Given the description of an element on the screen output the (x, y) to click on. 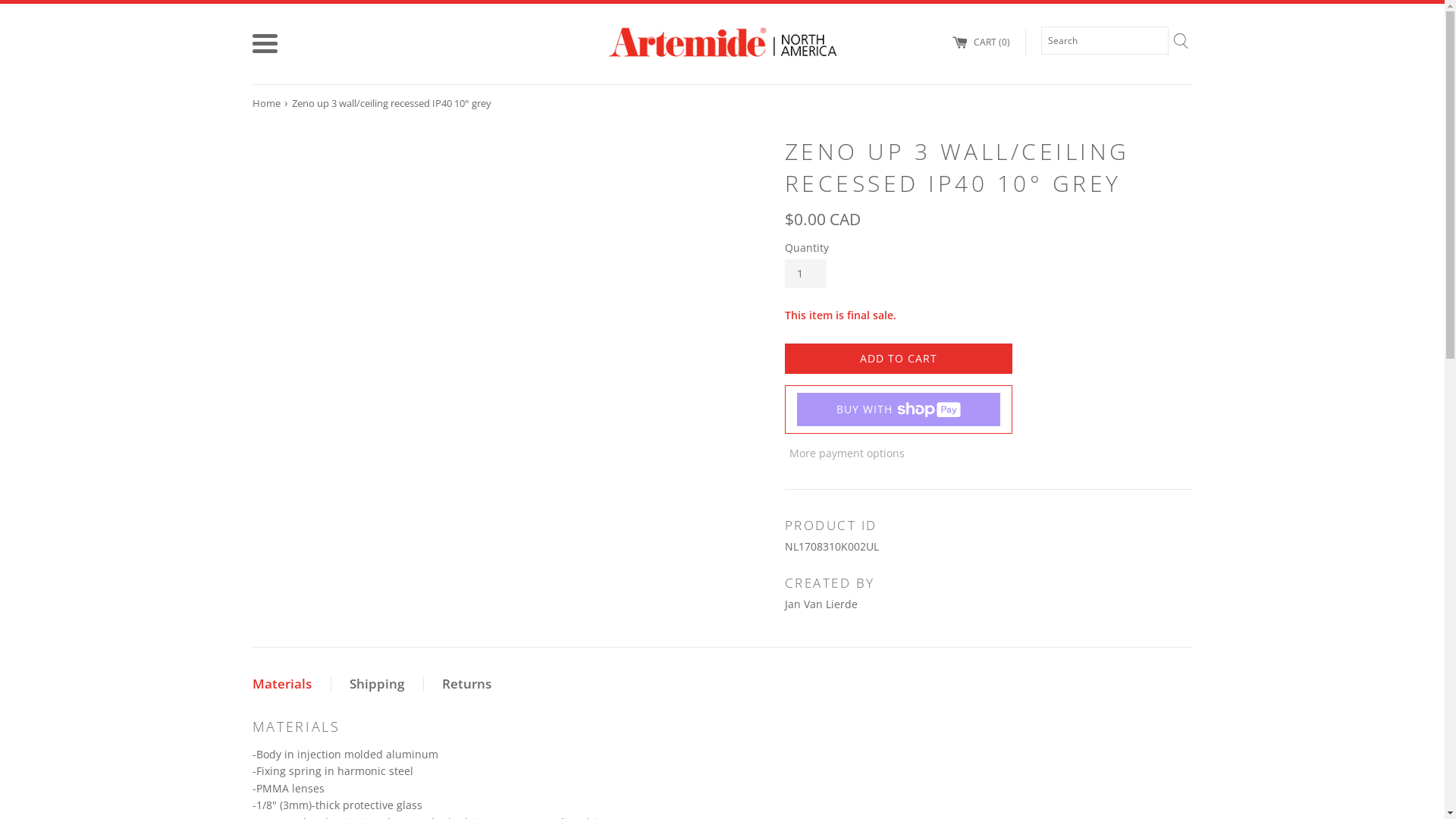
Search Element type: text (1179, 40)
More payment options Element type: text (988, 453)
Home Element type: text (266, 103)
ADD TO CART Element type: text (897, 358)
Returns Element type: text (466, 684)
Menu Element type: text (263, 43)
Materials Element type: text (290, 684)
Shipping Element type: text (376, 684)
CART (0) Element type: text (981, 41)
